Given the description of an element on the screen output the (x, y) to click on. 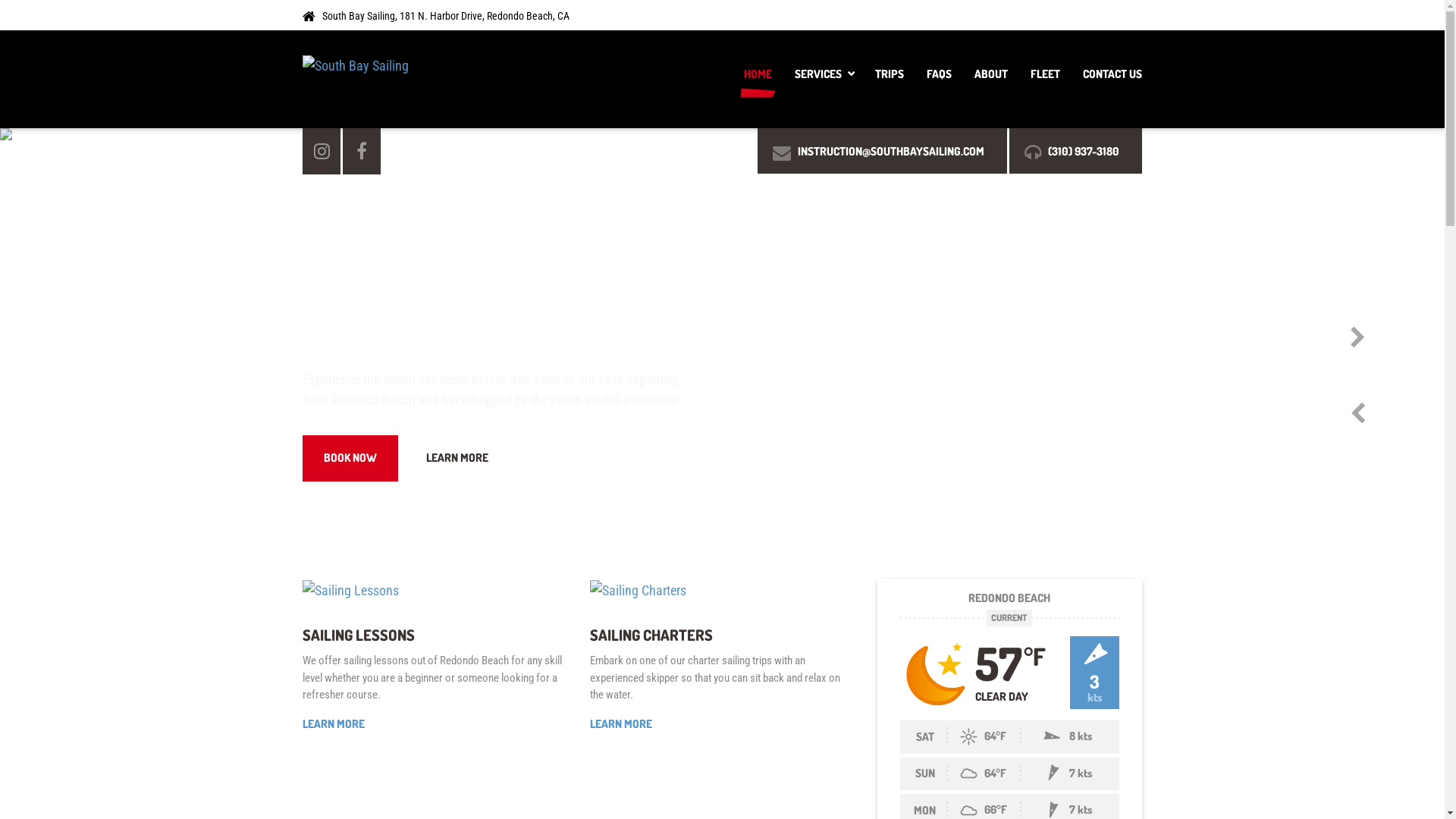
Next Element type: text (1389, 338)
LEARN MORE Element type: text (456, 458)
SAILING LESSONS Element type: text (358, 634)
LEARN MORE Element type: text (620, 724)
FLEET Element type: text (1045, 79)
LEARN MORE Element type: text (333, 724)
ABOUT Element type: text (991, 79)
FAQS Element type: text (939, 79)
HOME Element type: text (757, 79)
SAILING CHARTERS Element type: text (650, 634)
BOOK NOW Element type: text (350, 458)
SERVICES Element type: text (823, 79)
CONTACT US Element type: text (1106, 79)
TRIPS Element type: text (889, 79)
Previous Element type: text (1389, 413)
